Given the description of an element on the screen output the (x, y) to click on. 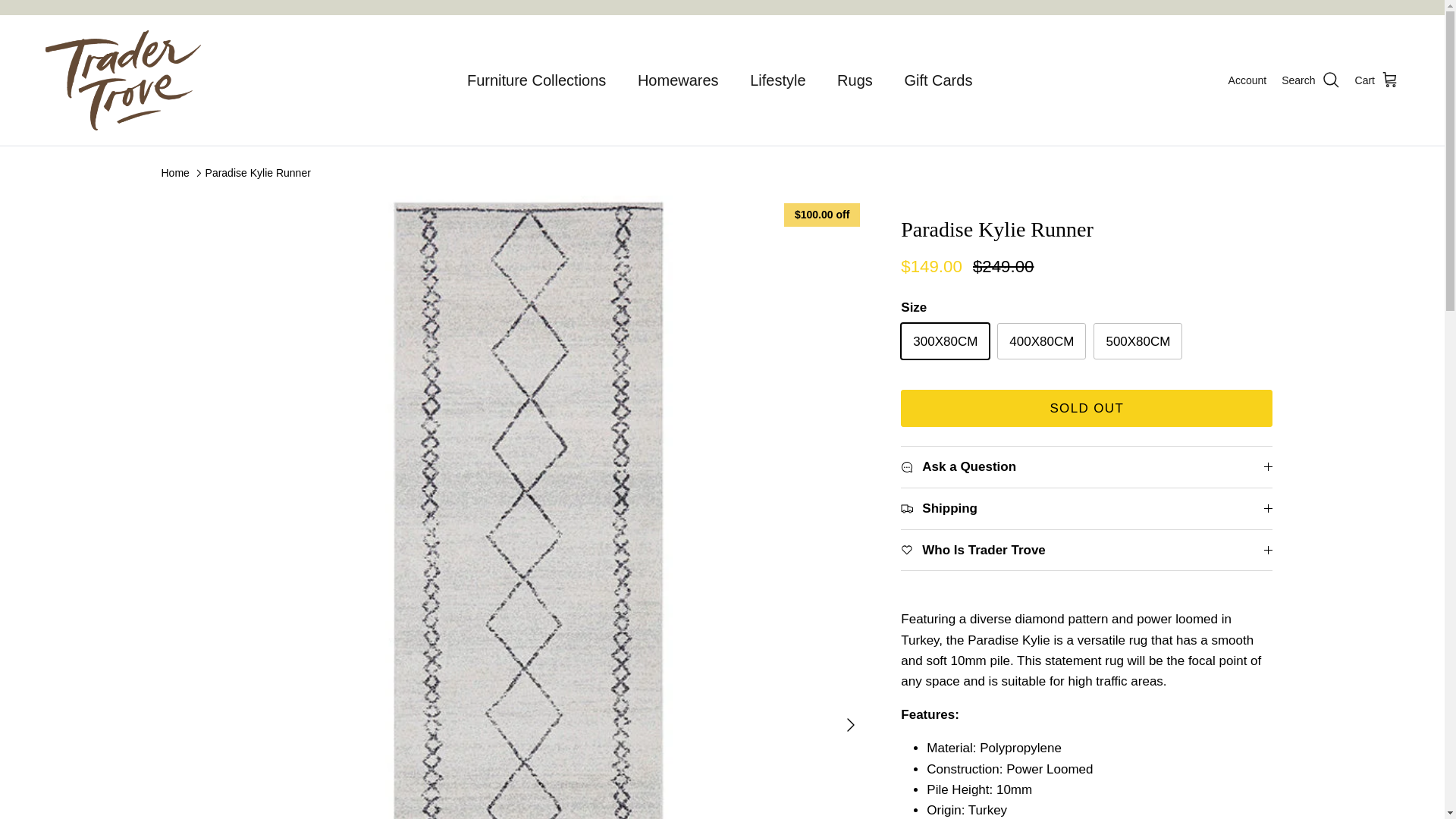
Gift Cards (937, 80)
Rugs (855, 80)
Furniture Collections (536, 80)
Cart (1377, 80)
Trader Trove (122, 80)
Account (1247, 80)
Homewares (678, 80)
Search (1310, 80)
Lifestyle (777, 80)
